Given the description of an element on the screen output the (x, y) to click on. 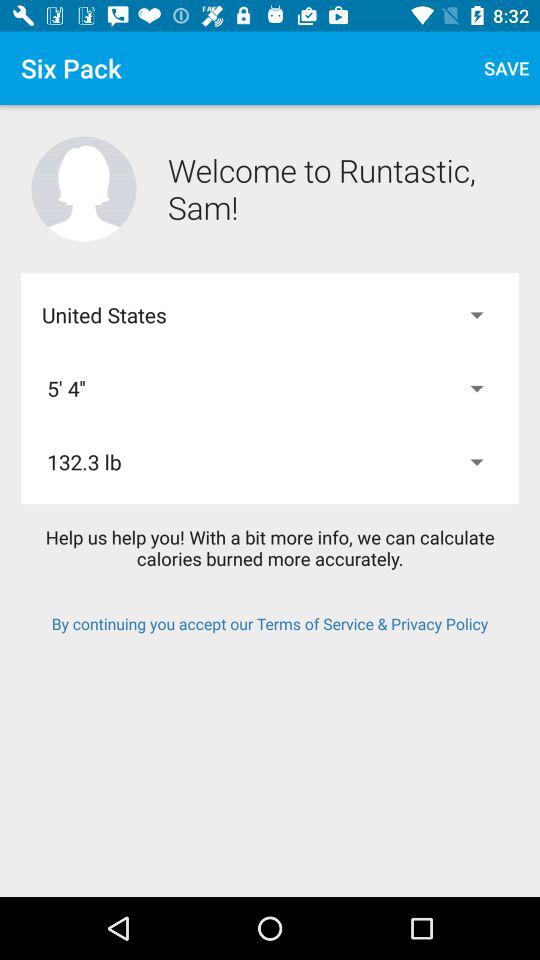
flip to the 132.3 lb item (269, 461)
